Given the description of an element on the screen output the (x, y) to click on. 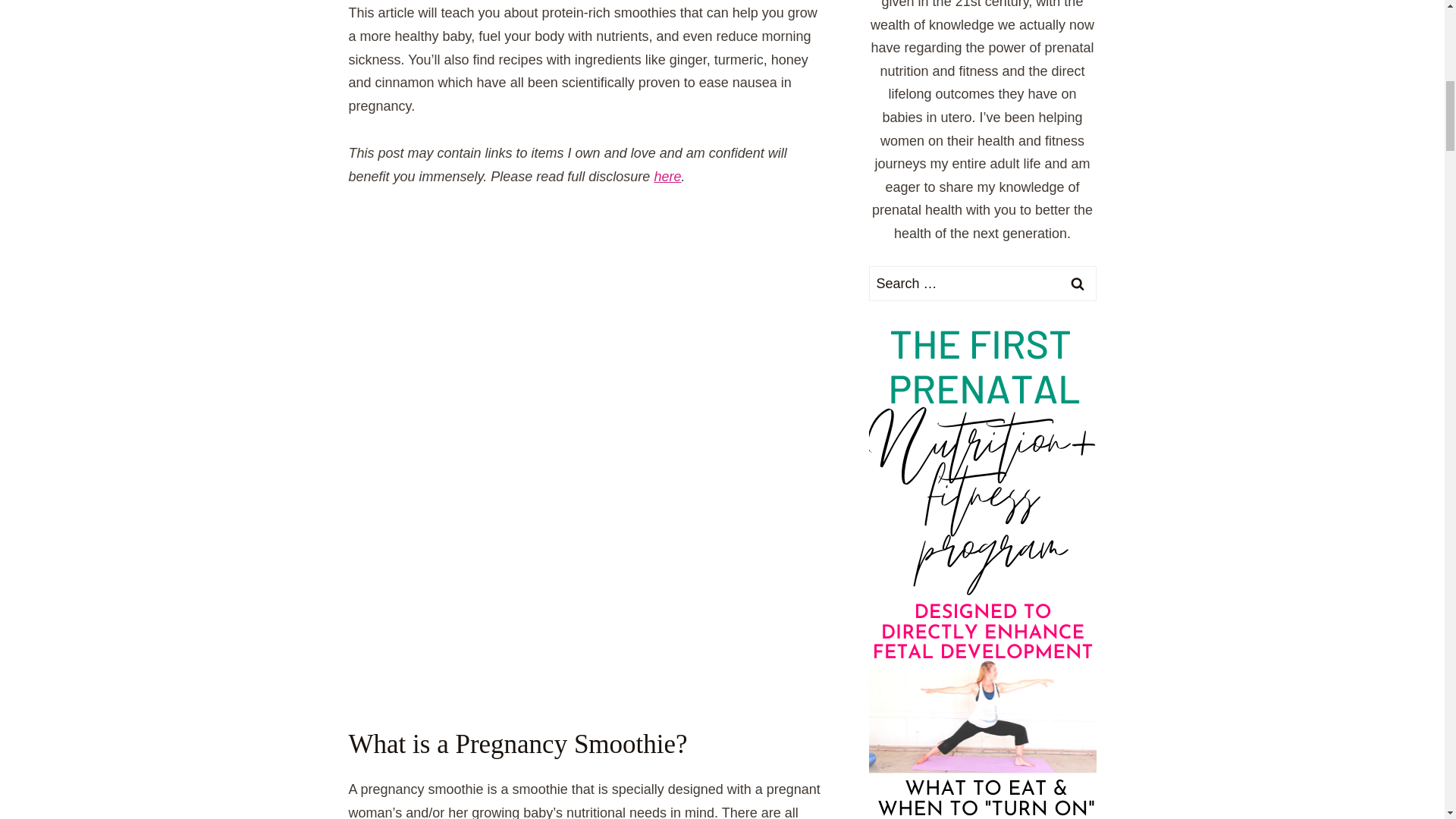
Search (1077, 283)
here (667, 176)
Search (1077, 283)
